Given the description of an element on the screen output the (x, y) to click on. 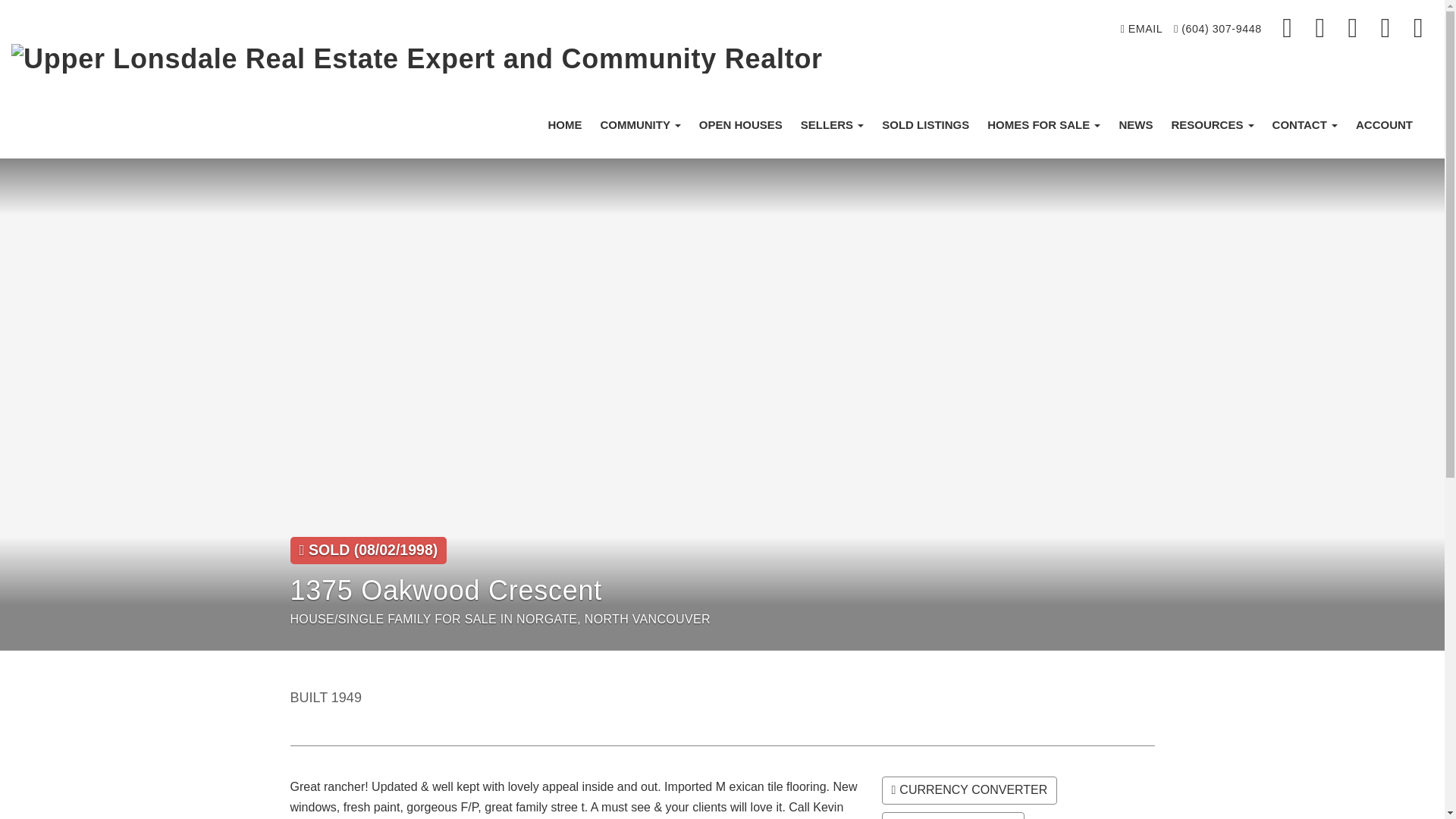
ACCOUNT (1384, 124)
NEWS (1135, 124)
Facebook (1288, 28)
EMAIL (1140, 28)
HOMES FOR SALE (1043, 124)
RESOURCES (1211, 124)
YouTube (1417, 28)
SELLERS (832, 124)
HOME (564, 124)
SOLD LISTINGS (925, 124)
